Given the description of an element on the screen output the (x, y) to click on. 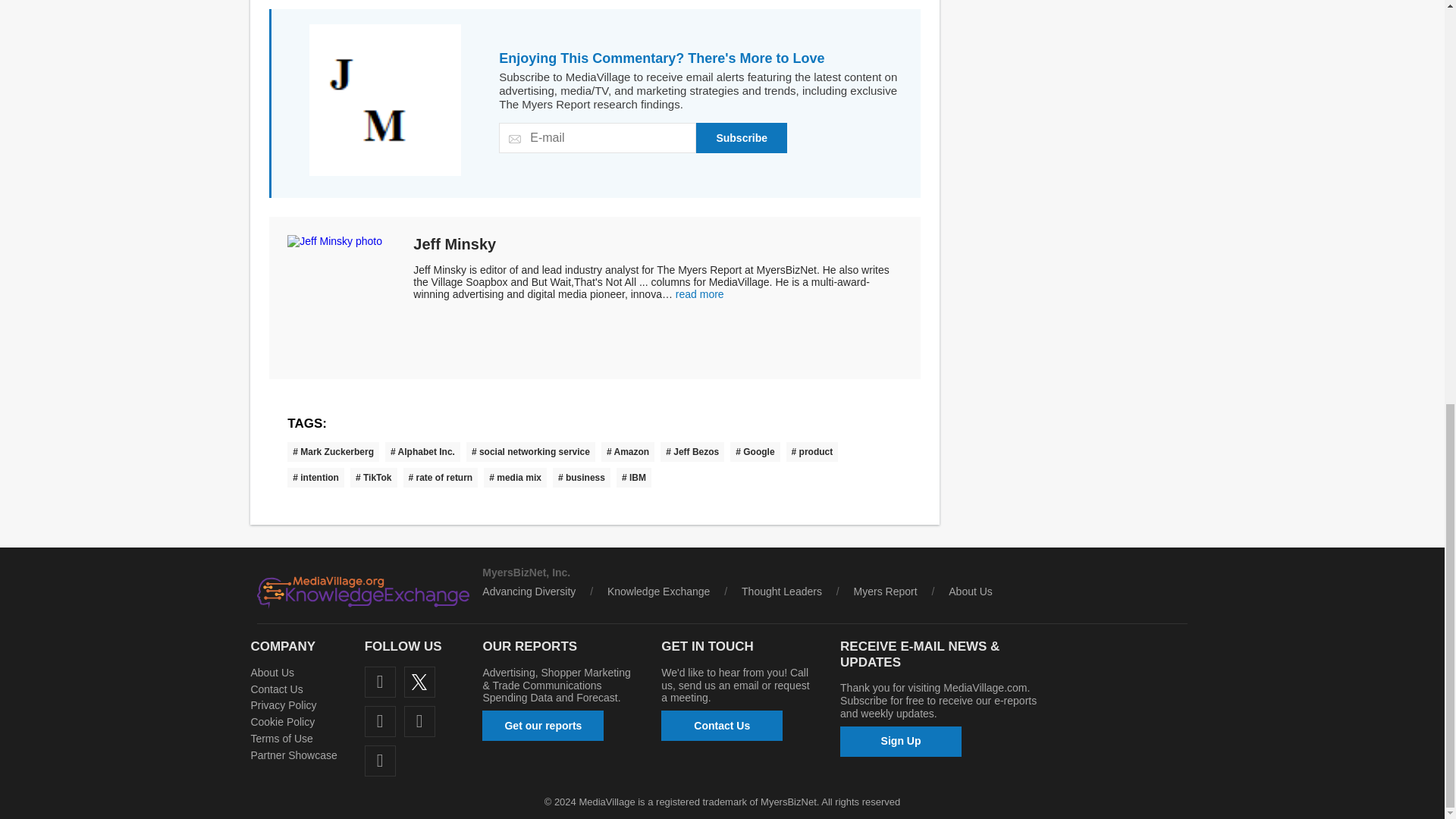
Follow us on Twitter (419, 681)
Follow us on Facebook (380, 681)
Follow us on Instagram (419, 721)
Follow us on LinkedIn (380, 721)
Rss (380, 760)
